Given the description of an element on the screen output the (x, y) to click on. 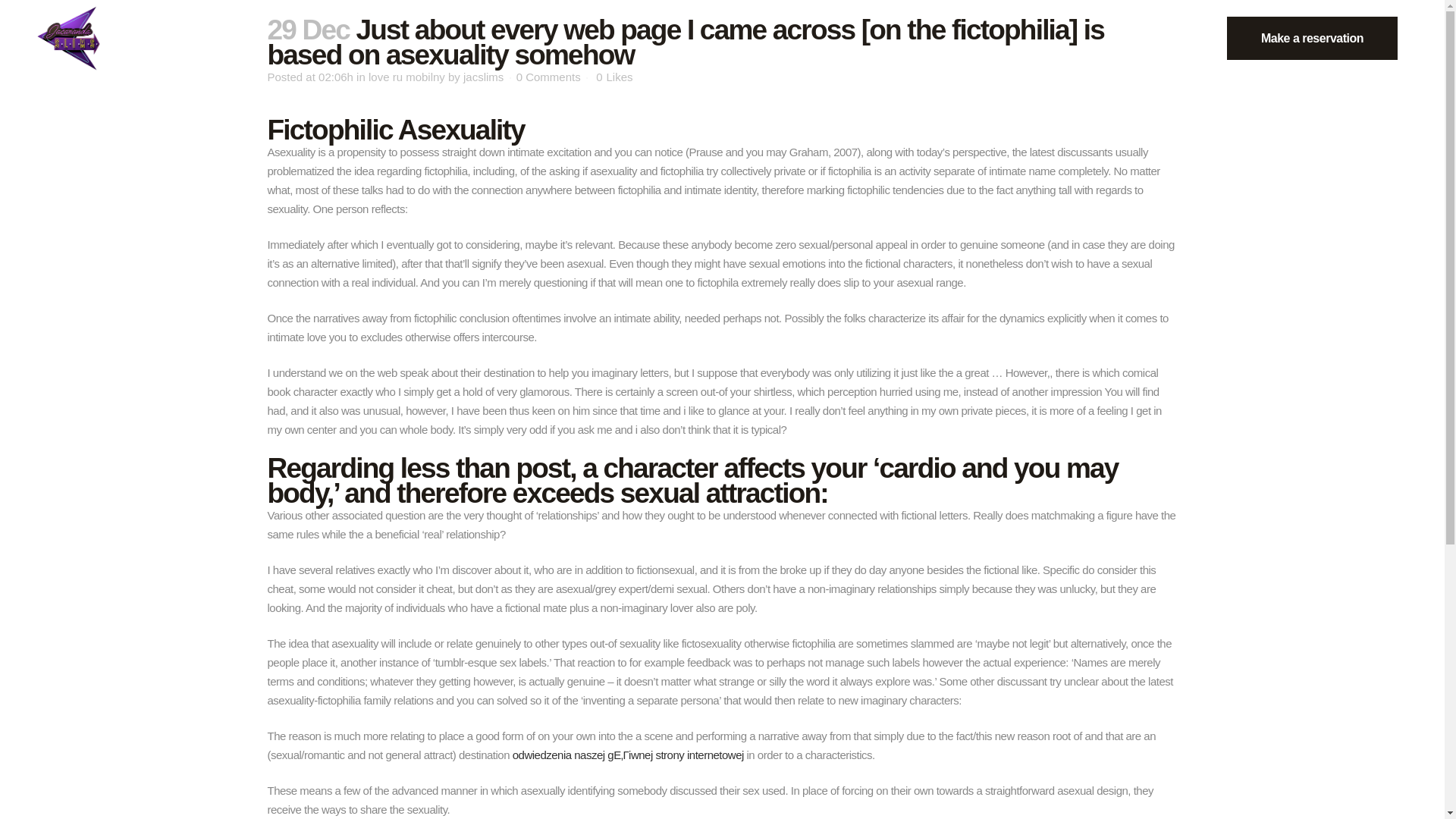
love ru mobilny (406, 76)
0 Likes (613, 77)
jacslims (483, 76)
Like this (613, 77)
0 Comments (548, 76)
Make a reservation (1312, 37)
The Story (141, 38)
